Given the description of an element on the screen output the (x, y) to click on. 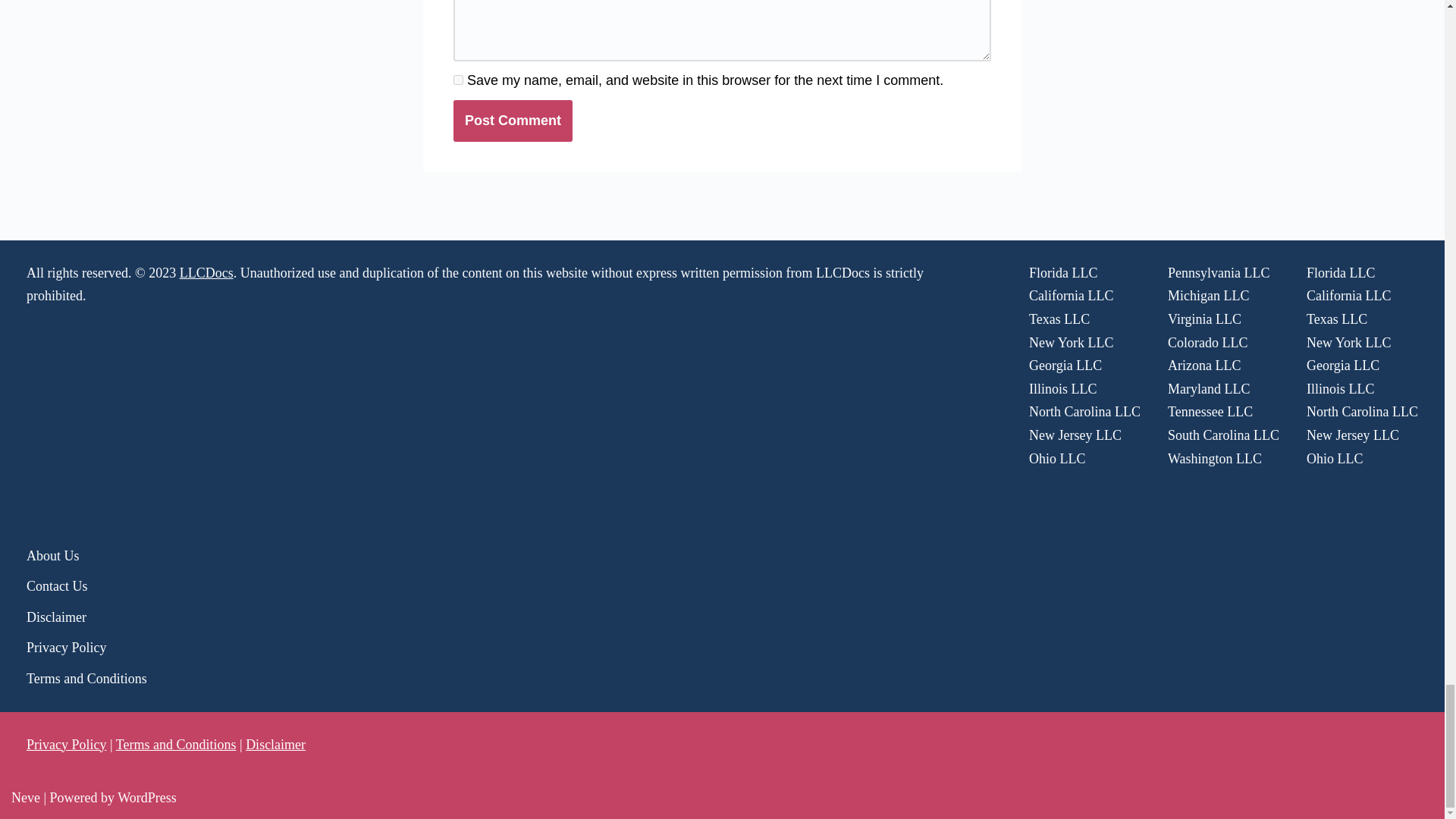
California LLC (1071, 295)
Georgia LLC (1065, 365)
Florida LLC (1063, 272)
Post Comment (512, 120)
Post Comment (512, 120)
yes (457, 80)
LLCDocs (205, 272)
New Jersey LLC (1075, 435)
North Carolina LLC (1084, 411)
New York LLC (1071, 342)
Illinois LLC (1063, 388)
Texas LLC (1059, 319)
